Given the description of an element on the screen output the (x, y) to click on. 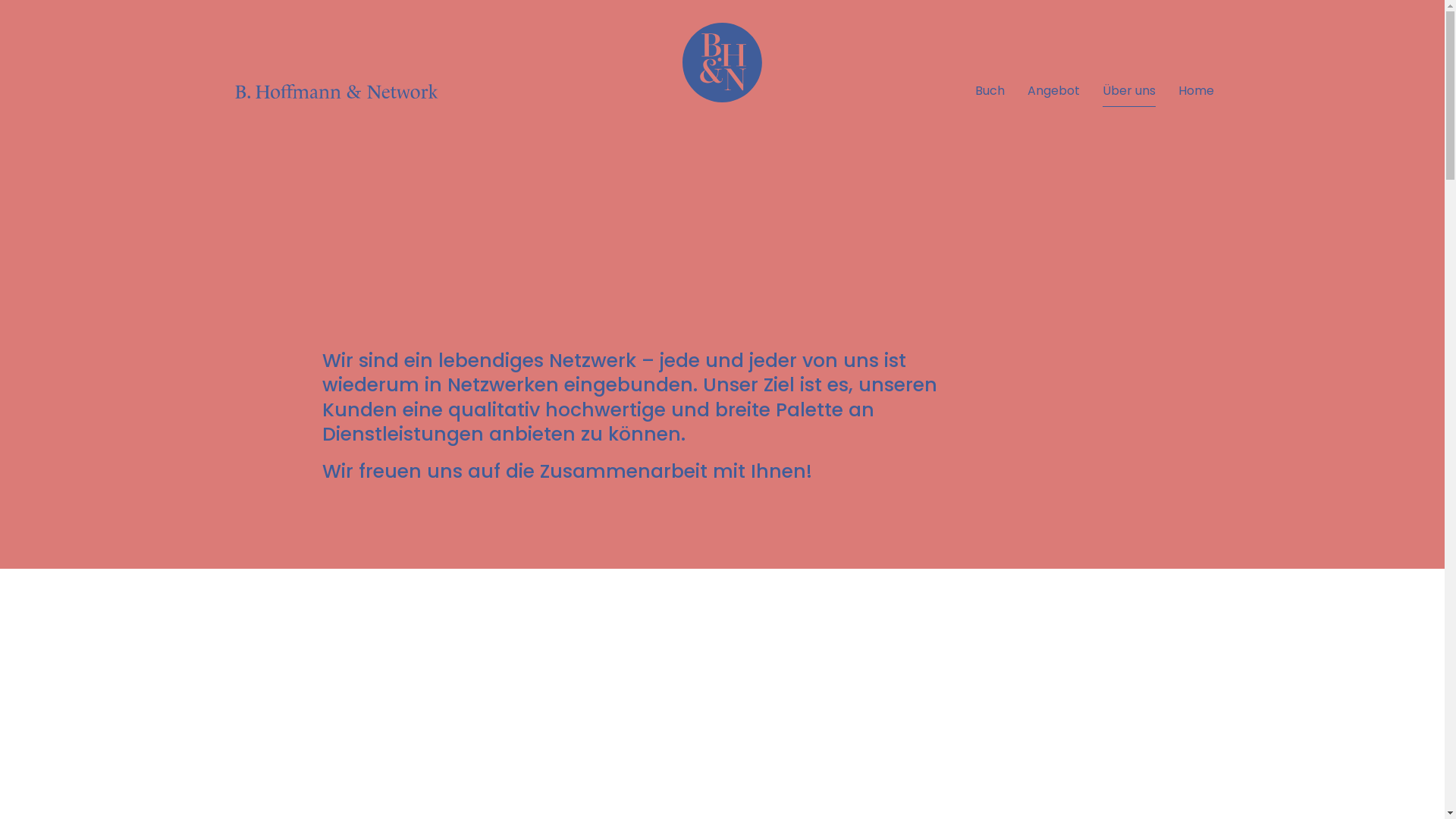
Home Element type: text (1196, 90)
Buch Element type: text (989, 90)
Angebot Element type: text (1052, 90)
